Given the description of an element on the screen output the (x, y) to click on. 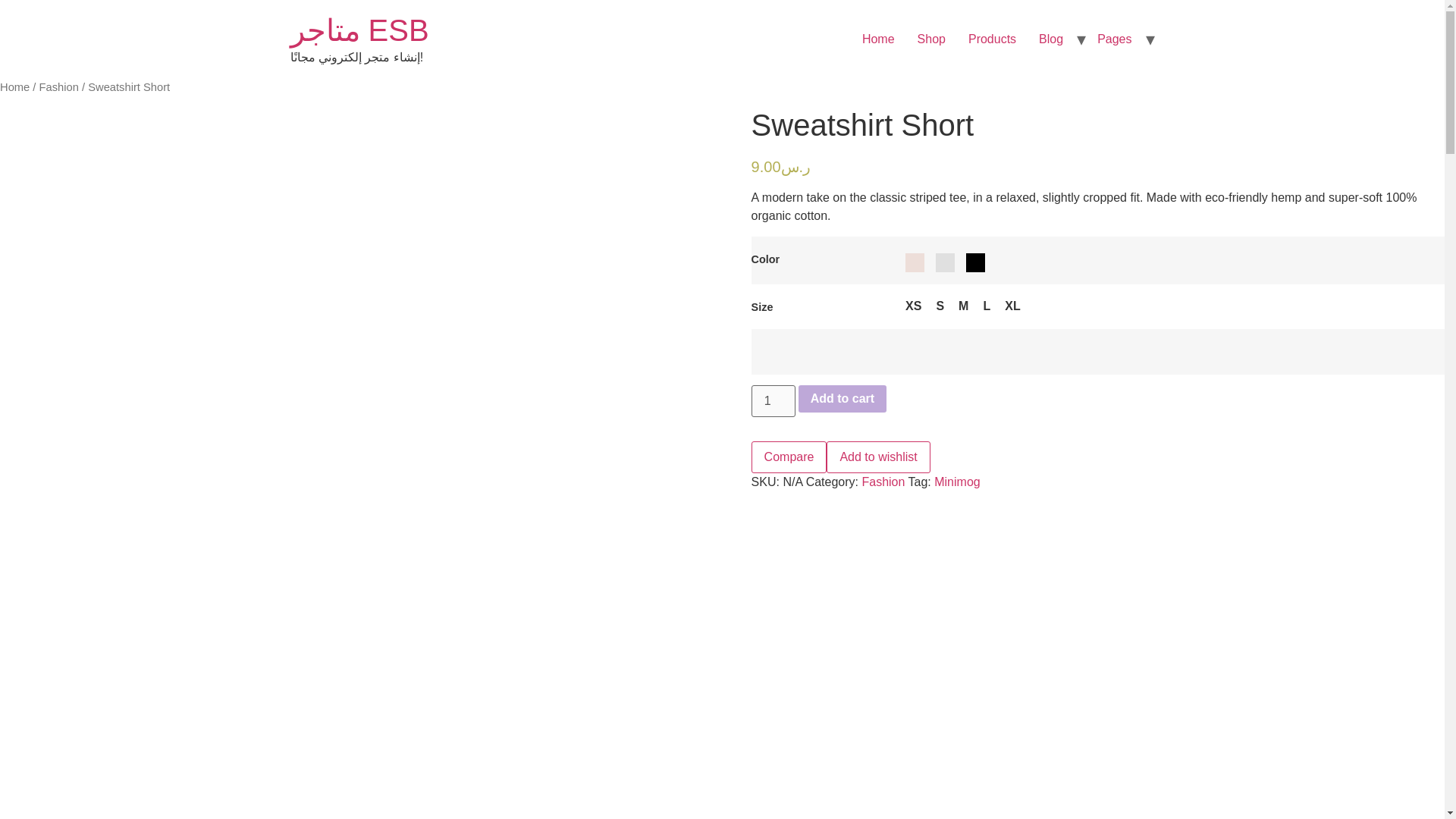
Light Pink (914, 262)
Home (358, 29)
Products (991, 39)
Home (877, 39)
Grey (945, 262)
Black (975, 262)
Shop (930, 39)
Pages (1114, 39)
1 (772, 400)
Blog (1050, 39)
